Given the description of an element on the screen output the (x, y) to click on. 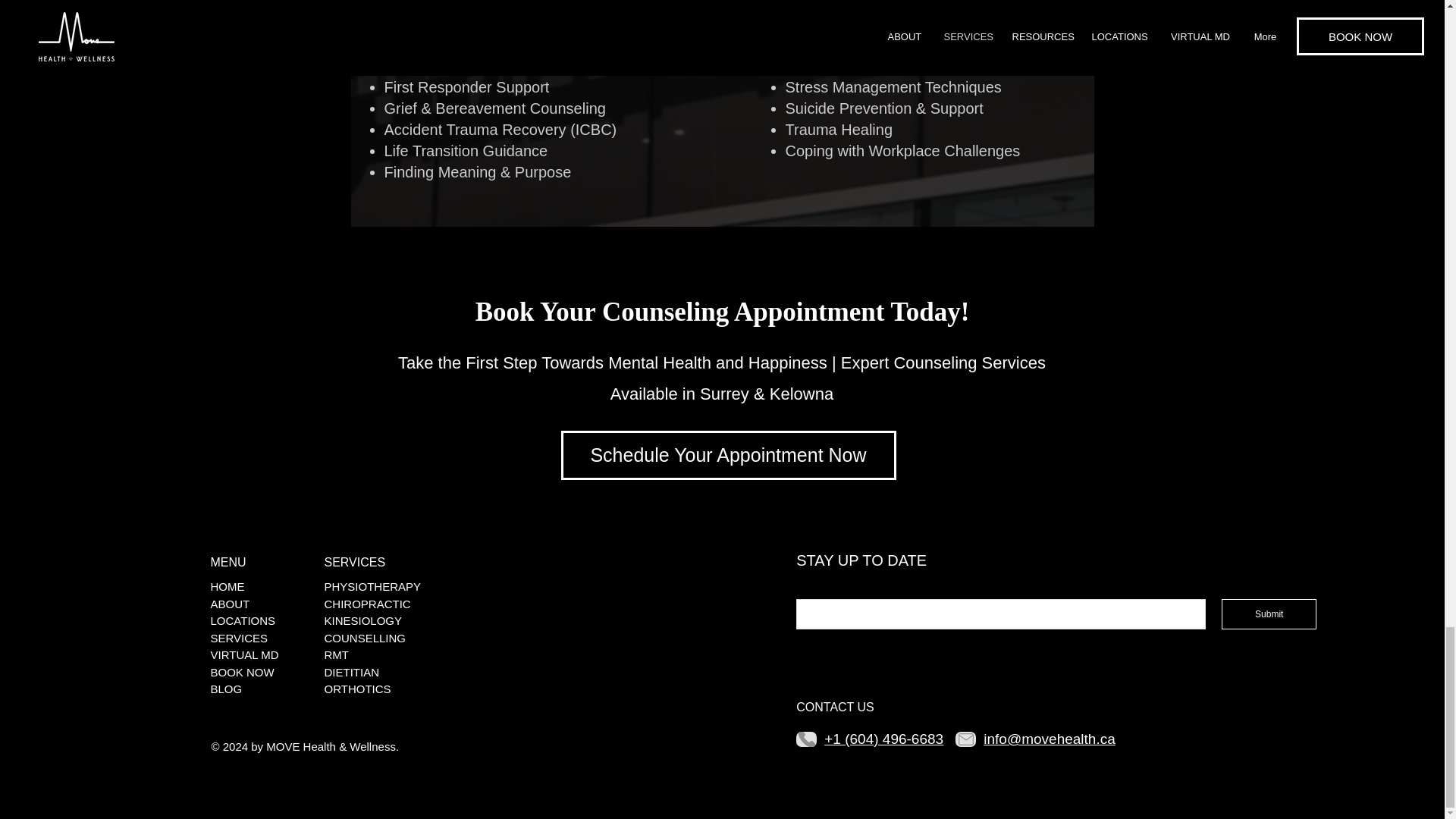
LOCATIONS (243, 621)
BLOG (227, 689)
VIRTUAL MD (245, 654)
ABOUT (230, 604)
BOOK NOW (243, 672)
HOME (227, 586)
Schedule Your Appointment Now (728, 454)
SERVICES (239, 638)
